Given the description of an element on the screen output the (x, y) to click on. 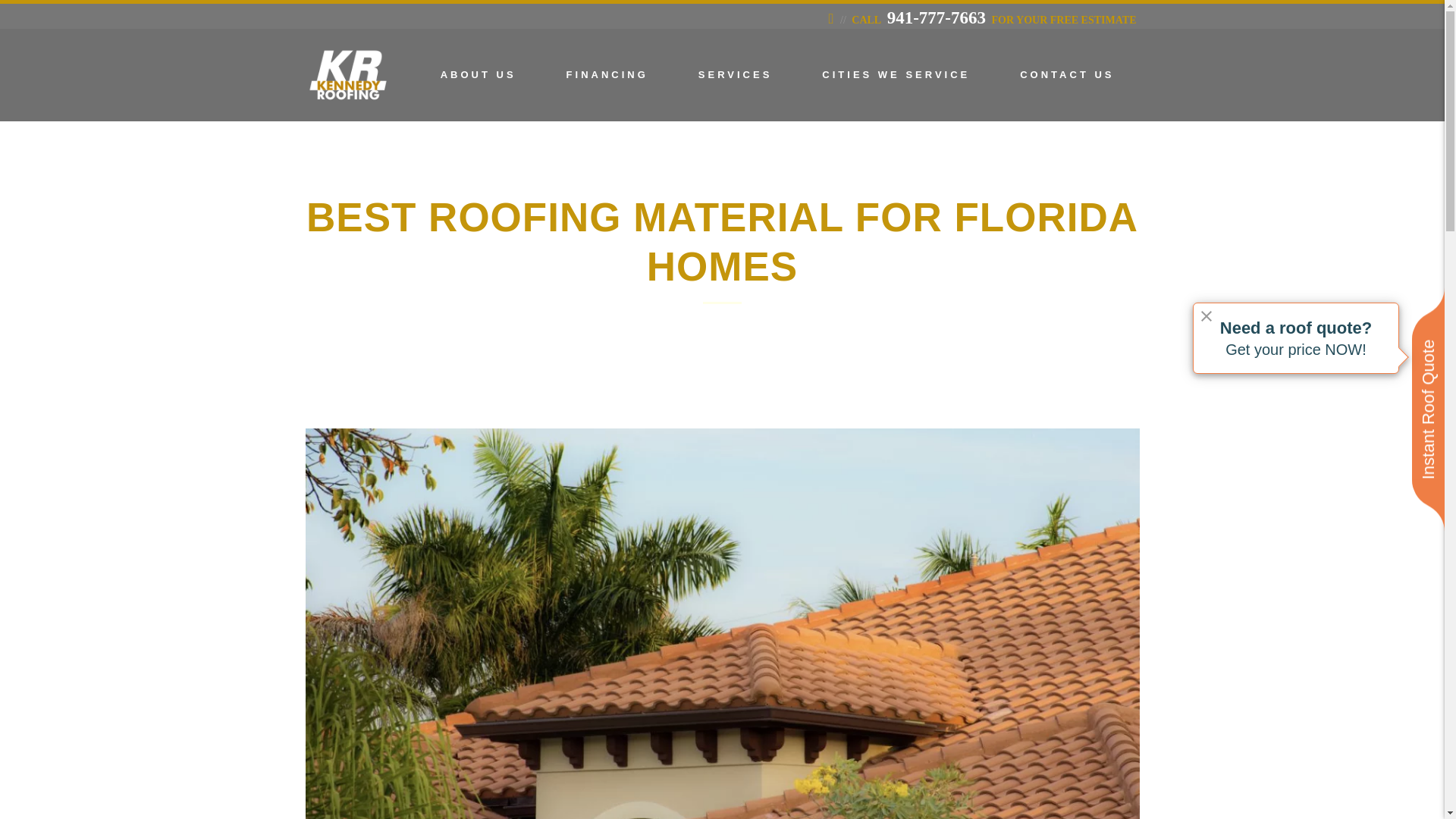
Roofing Services (734, 74)
SERVICES (734, 74)
ABOUT US (477, 74)
FINANCING (606, 74)
CONTACT US (1066, 74)
CITIES WE SERVICE (895, 74)
